Given the description of an element on the screen output the (x, y) to click on. 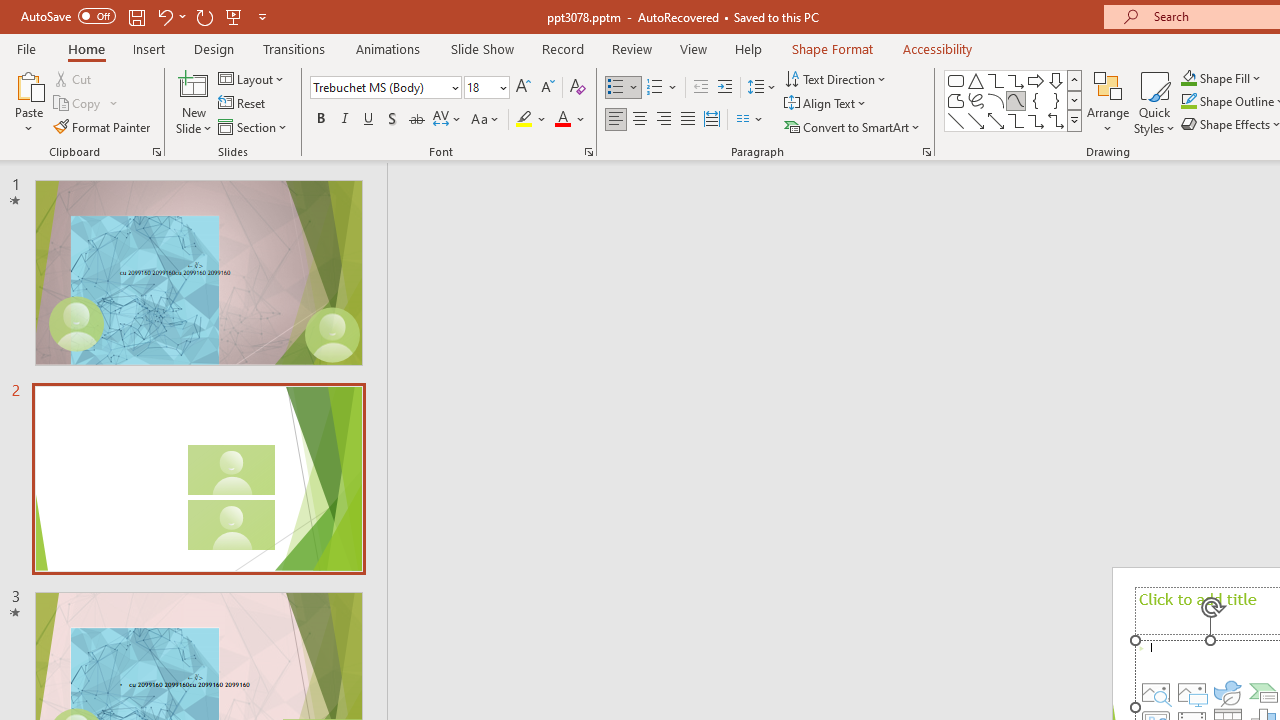
Pictures (1192, 692)
